Given the description of an element on the screen output the (x, y) to click on. 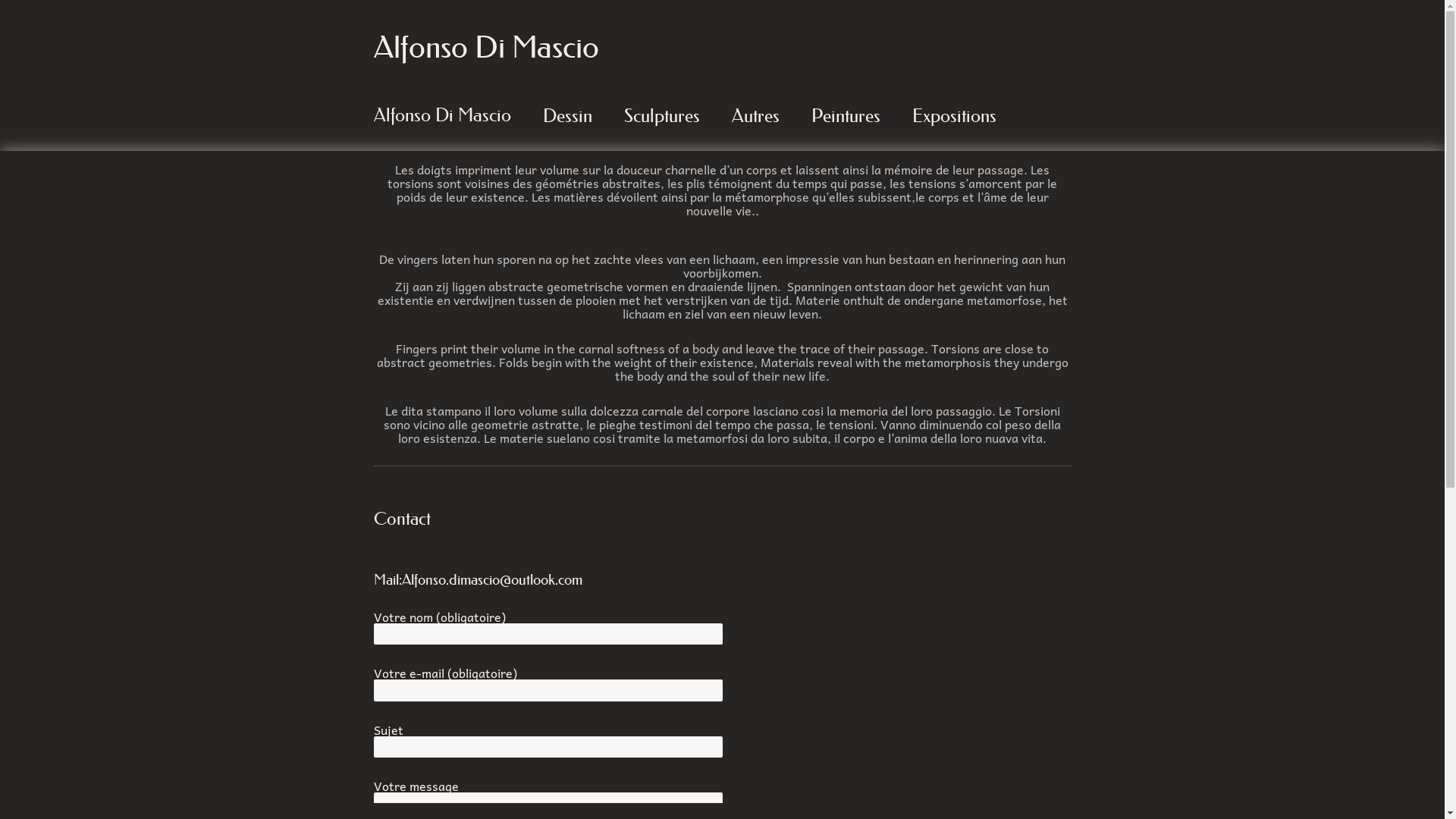
Autres Element type: text (755, 115)
Alfonso Di Mascio Element type: text (485, 47)
Sculptures Element type: text (661, 115)
Alfonso Di Mascio Element type: text (442, 115)
Expositions Element type: text (954, 115)
Dessin Element type: text (566, 115)
Peintures Element type: text (844, 115)
